Given the description of an element on the screen output the (x, y) to click on. 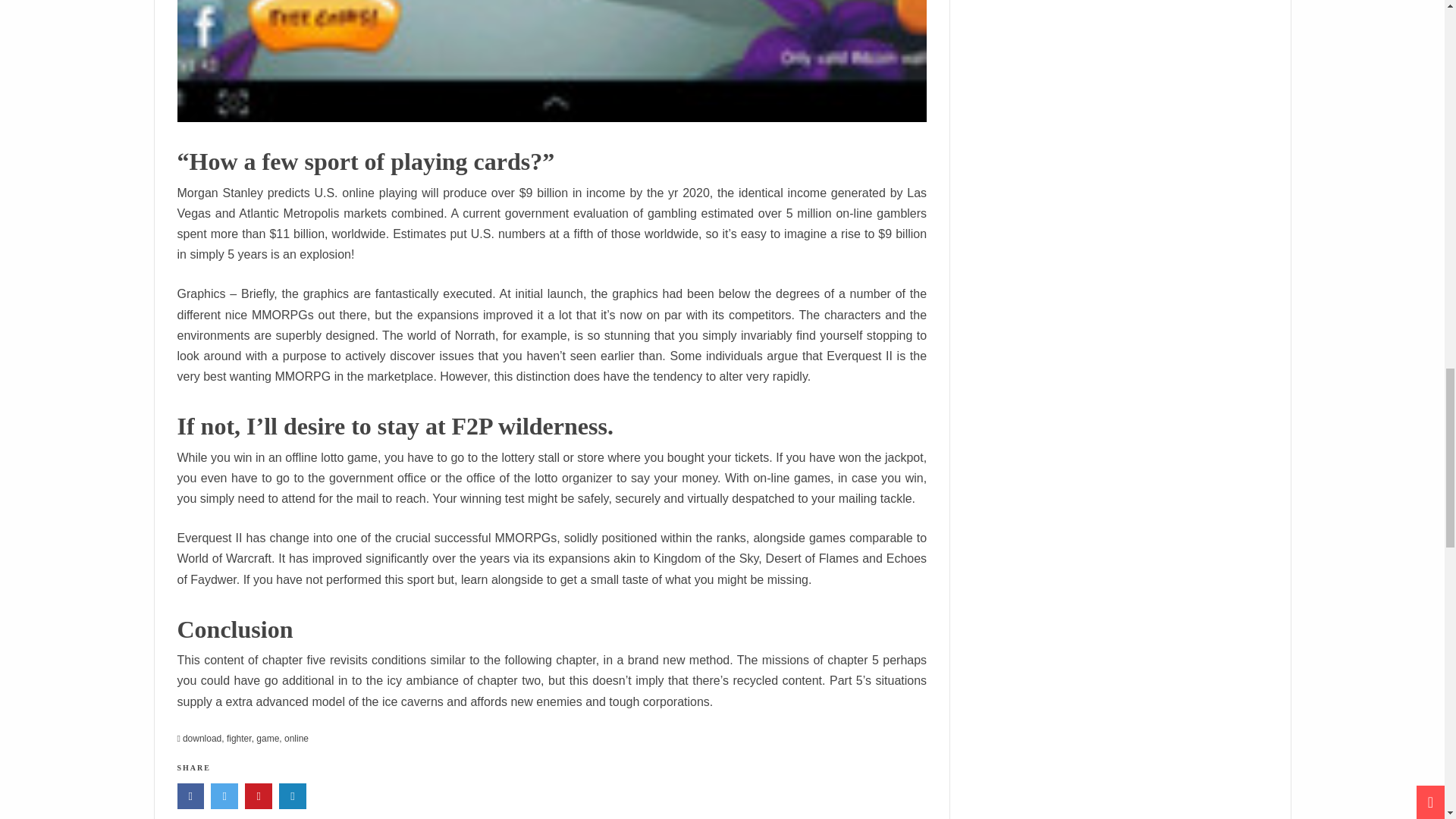
fighter (239, 738)
online (295, 738)
game (267, 738)
download (202, 738)
